Given the description of an element on the screen output the (x, y) to click on. 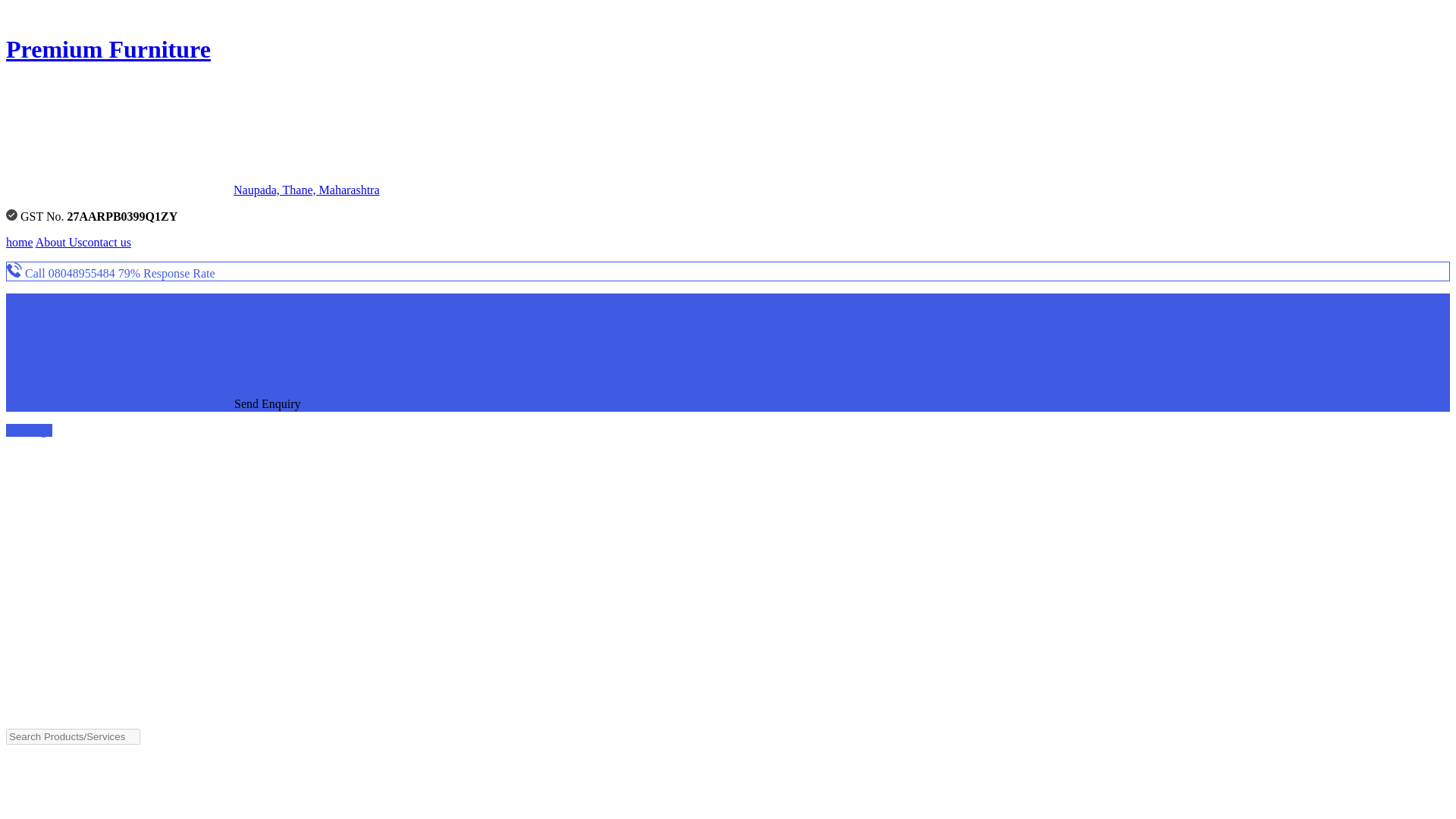
contact us (106, 241)
About Us (58, 241)
our range (28, 430)
home (19, 241)
